Given the description of an element on the screen output the (x, y) to click on. 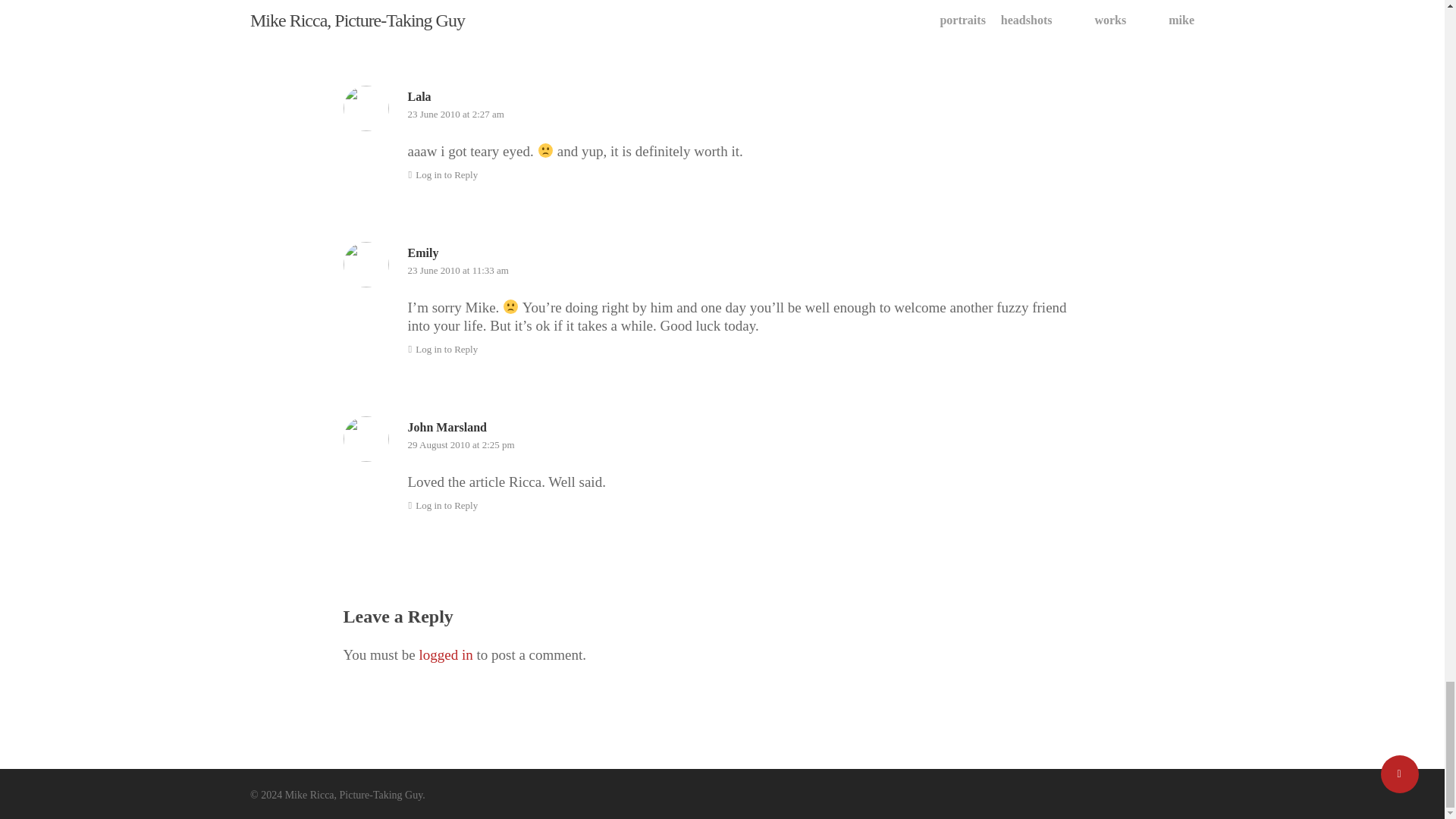
John Marsland (446, 427)
23 June 2010 at 2:27 am (455, 113)
23 June 2010 at 11:33 am (457, 270)
logged in (445, 654)
Log in to Reply (443, 505)
Log in to Reply (443, 18)
Log in to Reply (443, 174)
29 August 2010 at 2:25 pm (461, 444)
Log in to Reply (443, 348)
